Given the description of an element on the screen output the (x, y) to click on. 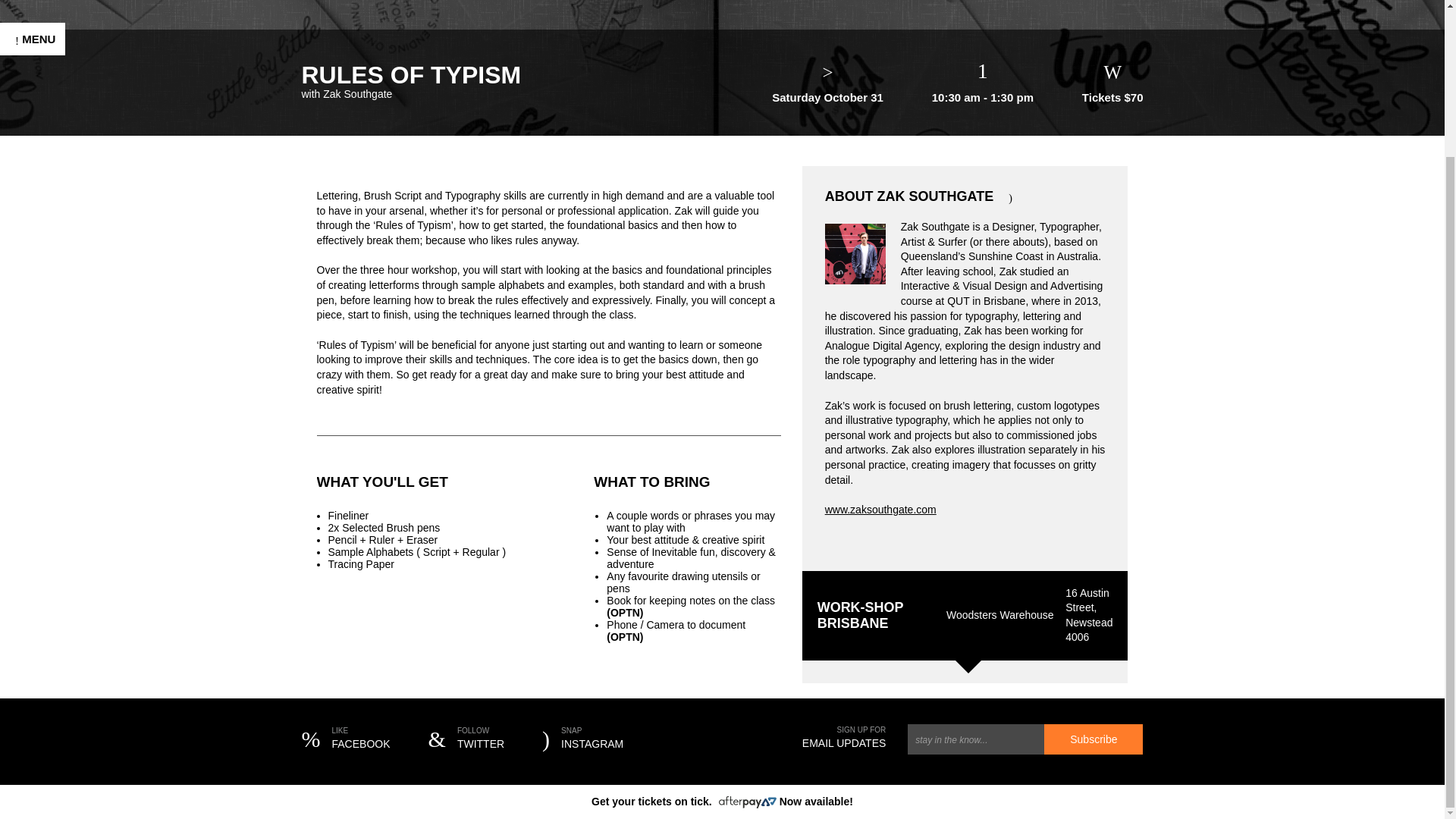
Subscribe (1092, 738)
VENUE HIRE MELBOURNE (57, 218)
HOW WE ROLL (63, 350)
TEAM BUILDING (67, 86)
MURALS (42, 179)
PRESS (37, 319)
Scott Lyttle (116, 616)
CONTACT (47, 412)
HENS ACTIVITIES (72, 117)
